Given the description of an element on the screen output the (x, y) to click on. 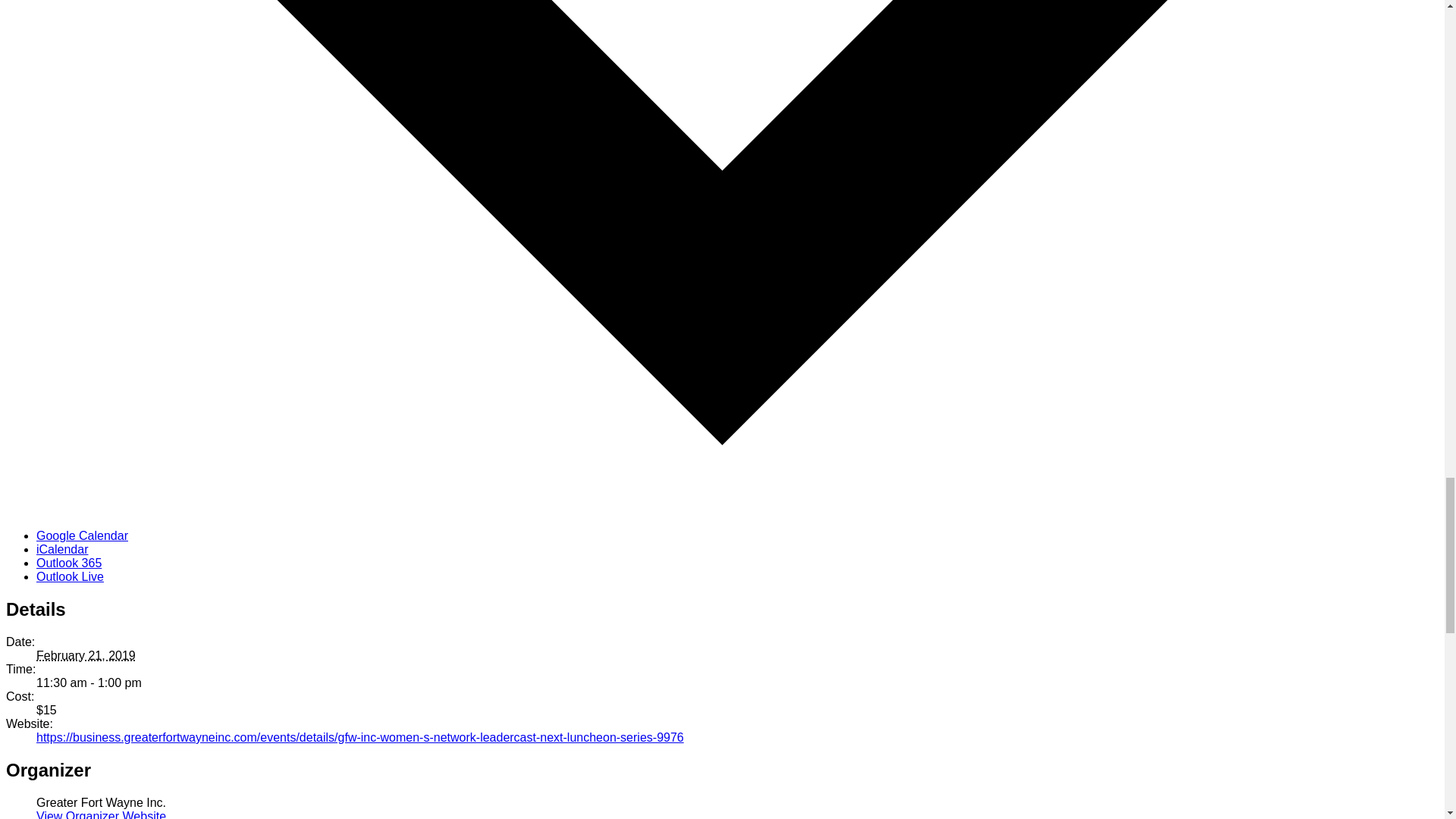
iCalendar (61, 549)
2019-02-21 (85, 655)
View Organizer Website (100, 814)
Outlook Live (69, 576)
Google Calendar (82, 535)
Outlook 365 (68, 562)
